Given the description of an element on the screen output the (x, y) to click on. 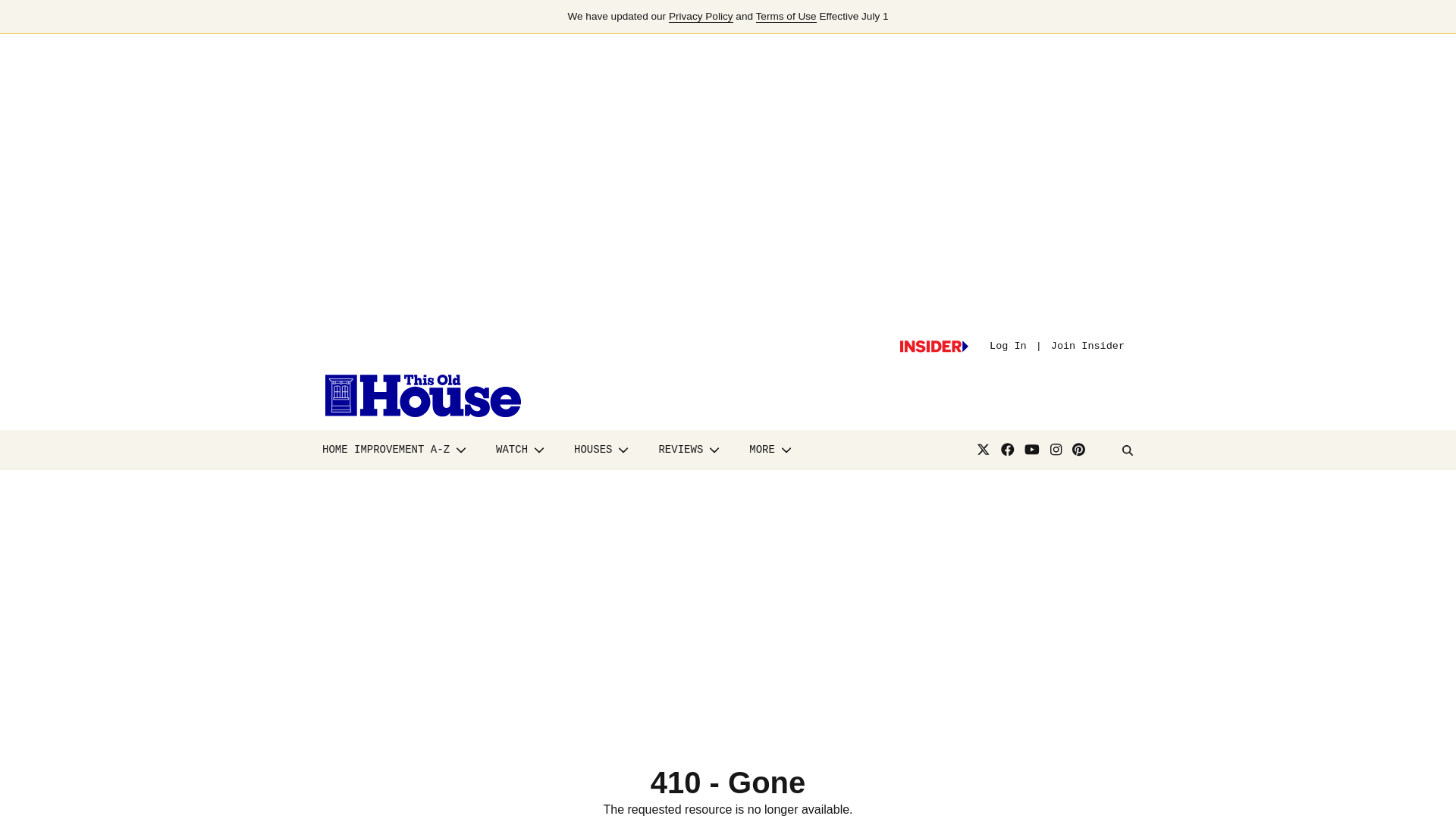
Log in or sign up (933, 346)
Join Insider (1087, 346)
Privacy Policy (700, 16)
Terms of Use (785, 16)
Log In (1008, 346)
